Given the description of an element on the screen output the (x, y) to click on. 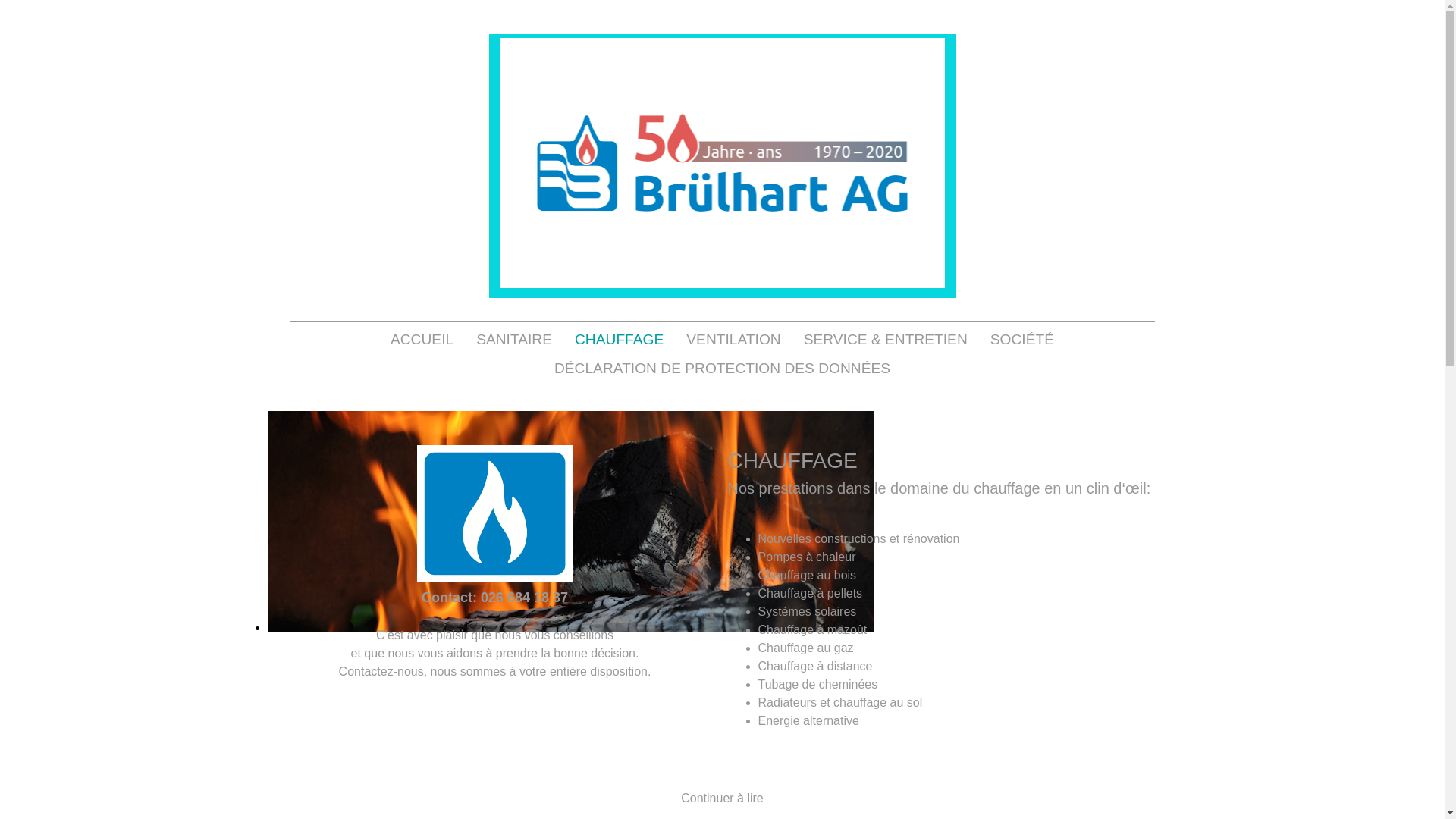
VENTILATION Element type: text (732, 339)
ACCUEIL Element type: text (421, 339)
SERVICE & ENTRETIEN Element type: text (885, 339)
SANITAIRE Element type: text (513, 339)
CHAUFFAGE Element type: text (618, 339)
